Given the description of an element on the screen output the (x, y) to click on. 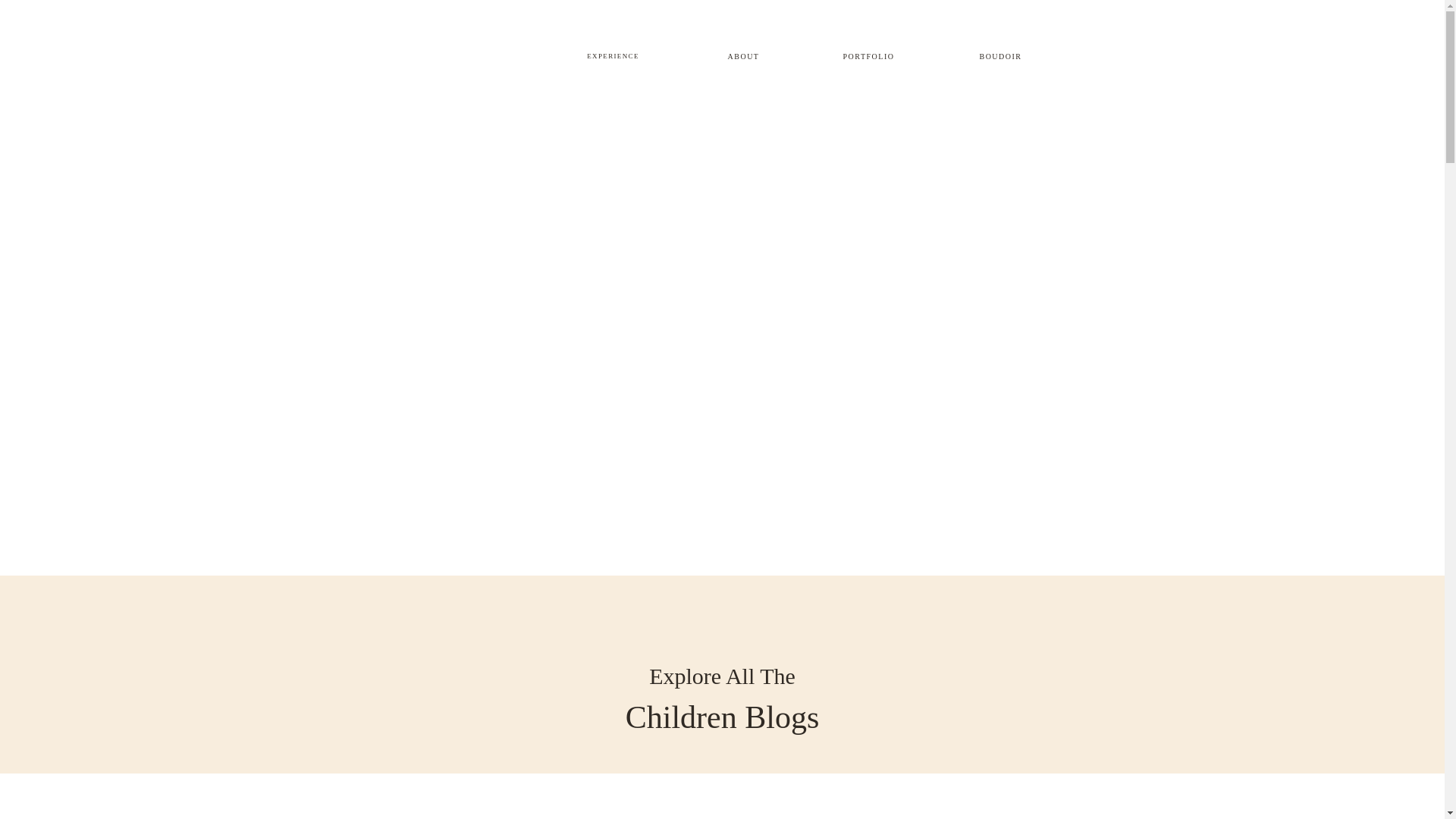
EXPERIENCE (613, 54)
ABOUT (743, 54)
BOUDOIR (1000, 54)
PORTFOLIO (868, 54)
